Given the description of an element on the screen output the (x, y) to click on. 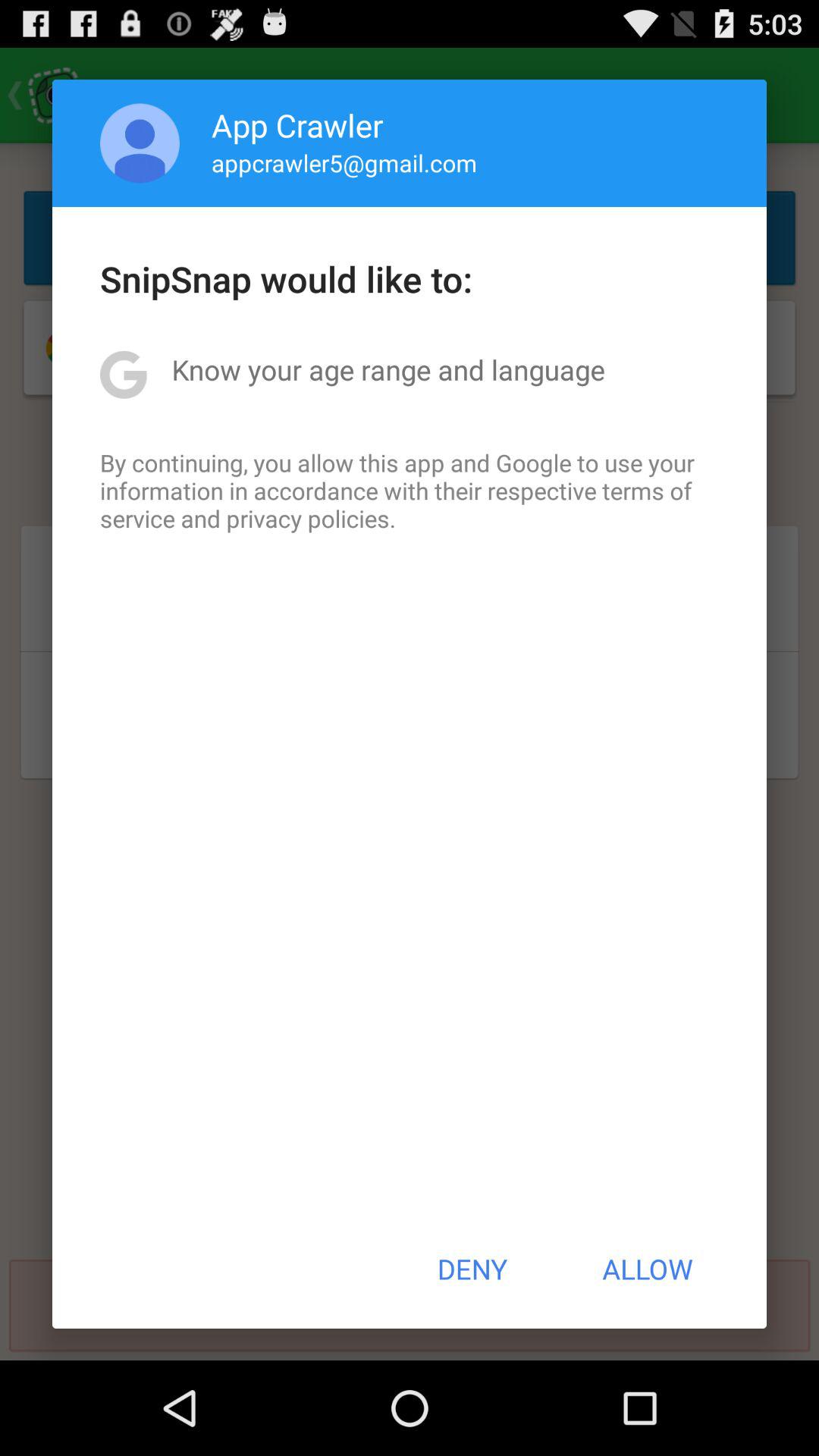
launch button next to the allow button (471, 1268)
